Given the description of an element on the screen output the (x, y) to click on. 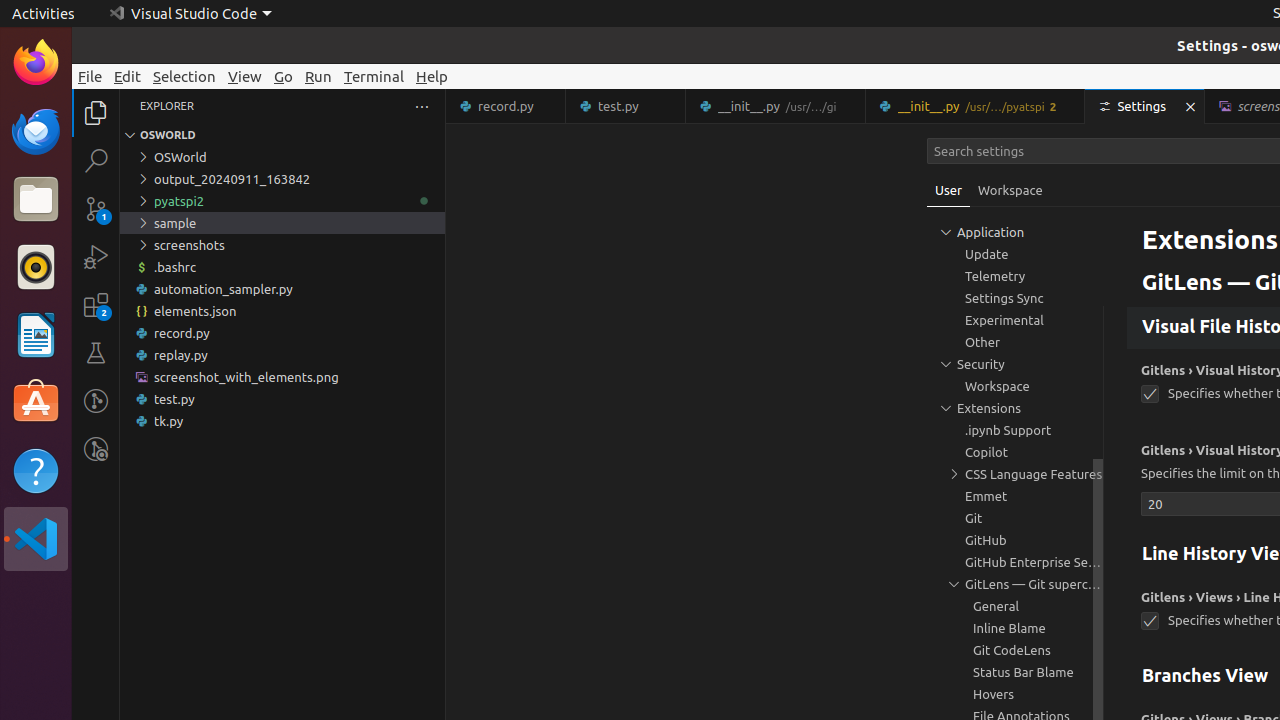
Emmet, group Element type: tree-item (1015, 496)
Git, group Element type: tree-item (1015, 518)
Settings Sync, group Element type: tree-item (1015, 298)
